Given the description of an element on the screen output the (x, y) to click on. 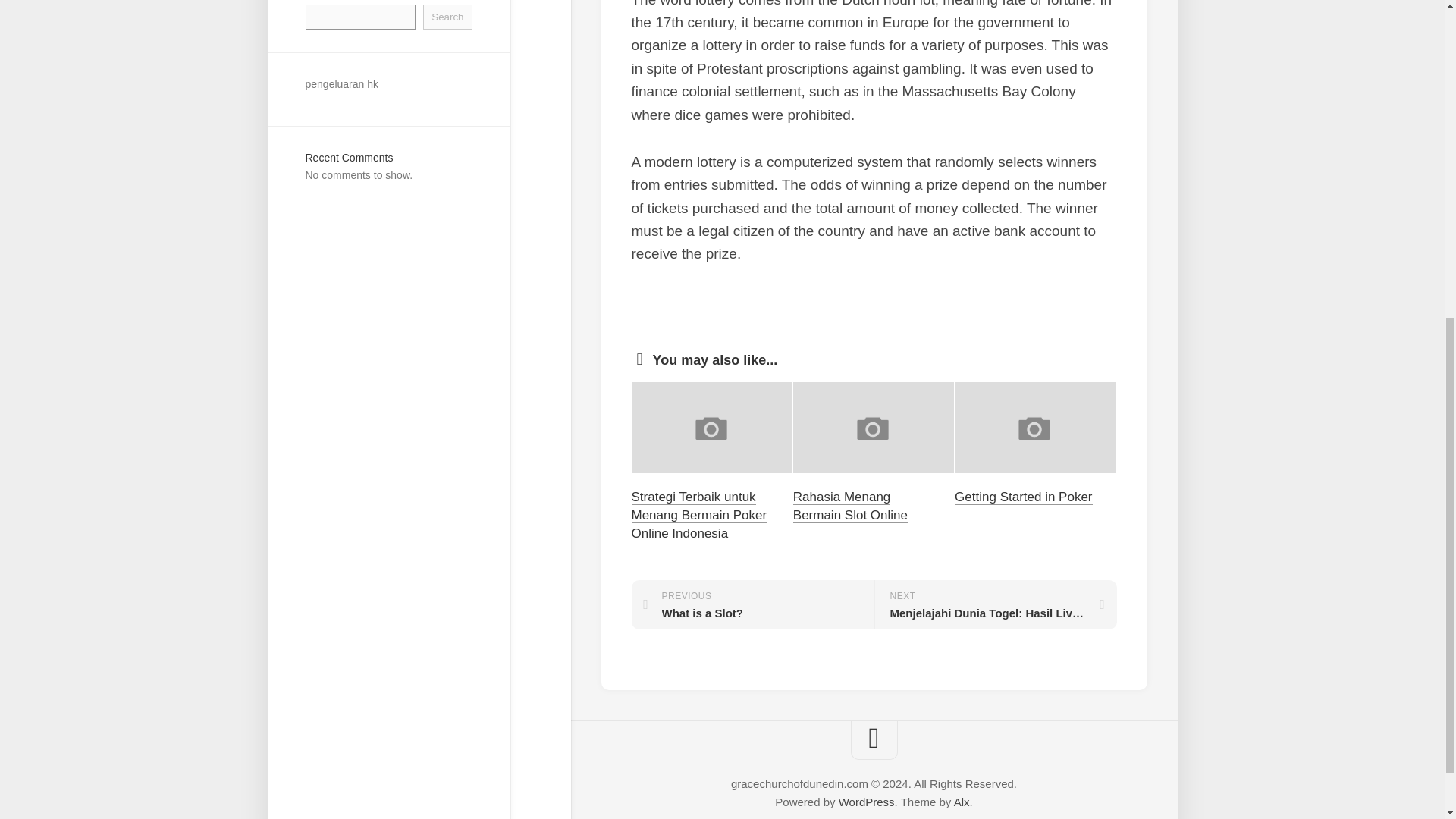
Search (447, 16)
Rahasia Menang Bermain Slot Online (850, 505)
Getting Started in Poker (751, 604)
Strategi Terbaik untuk Menang Bermain Poker Online Indonesia (1023, 496)
pengeluaran hk (698, 514)
WordPress (341, 83)
Alx (866, 801)
